Given the description of an element on the screen output the (x, y) to click on. 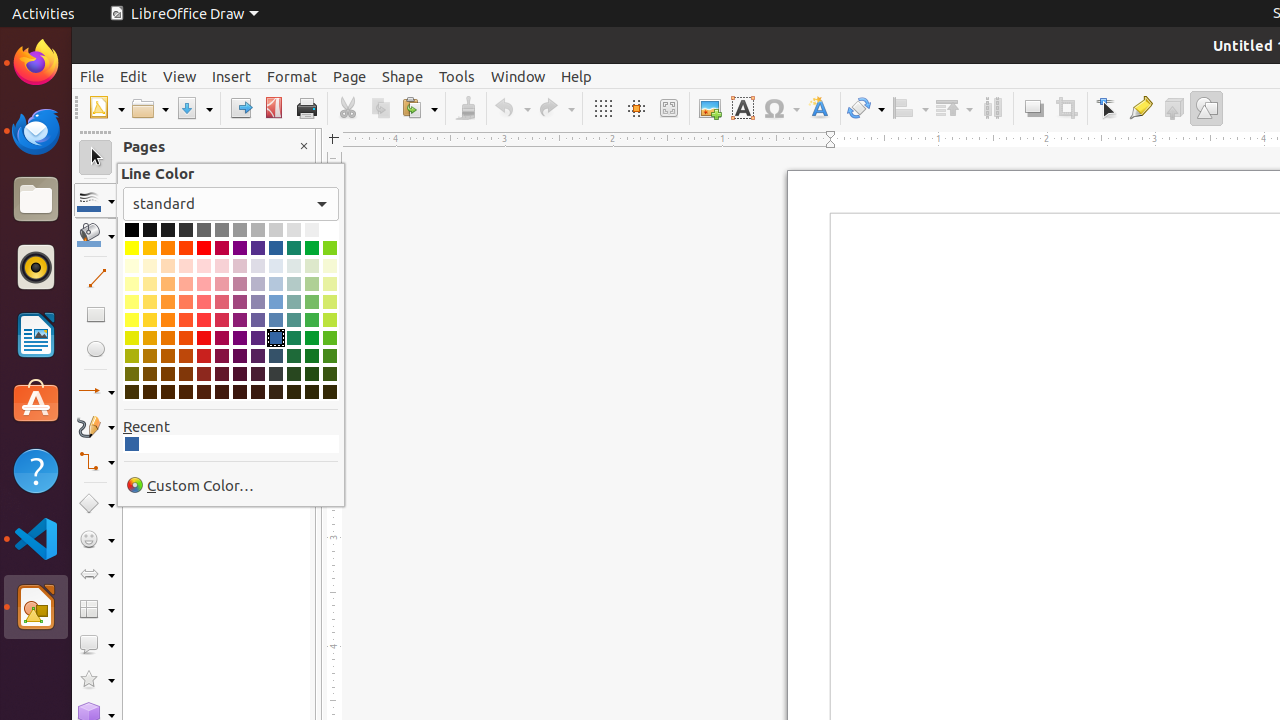
Dark Orange 3 Element type: list-item (168, 374)
Files Element type: push-button (36, 199)
Dark Yellow 2 Element type: list-item (132, 356)
Tools Element type: menu (457, 76)
Dark Gold 4 Element type: list-item (150, 392)
